Given the description of an element on the screen output the (x, y) to click on. 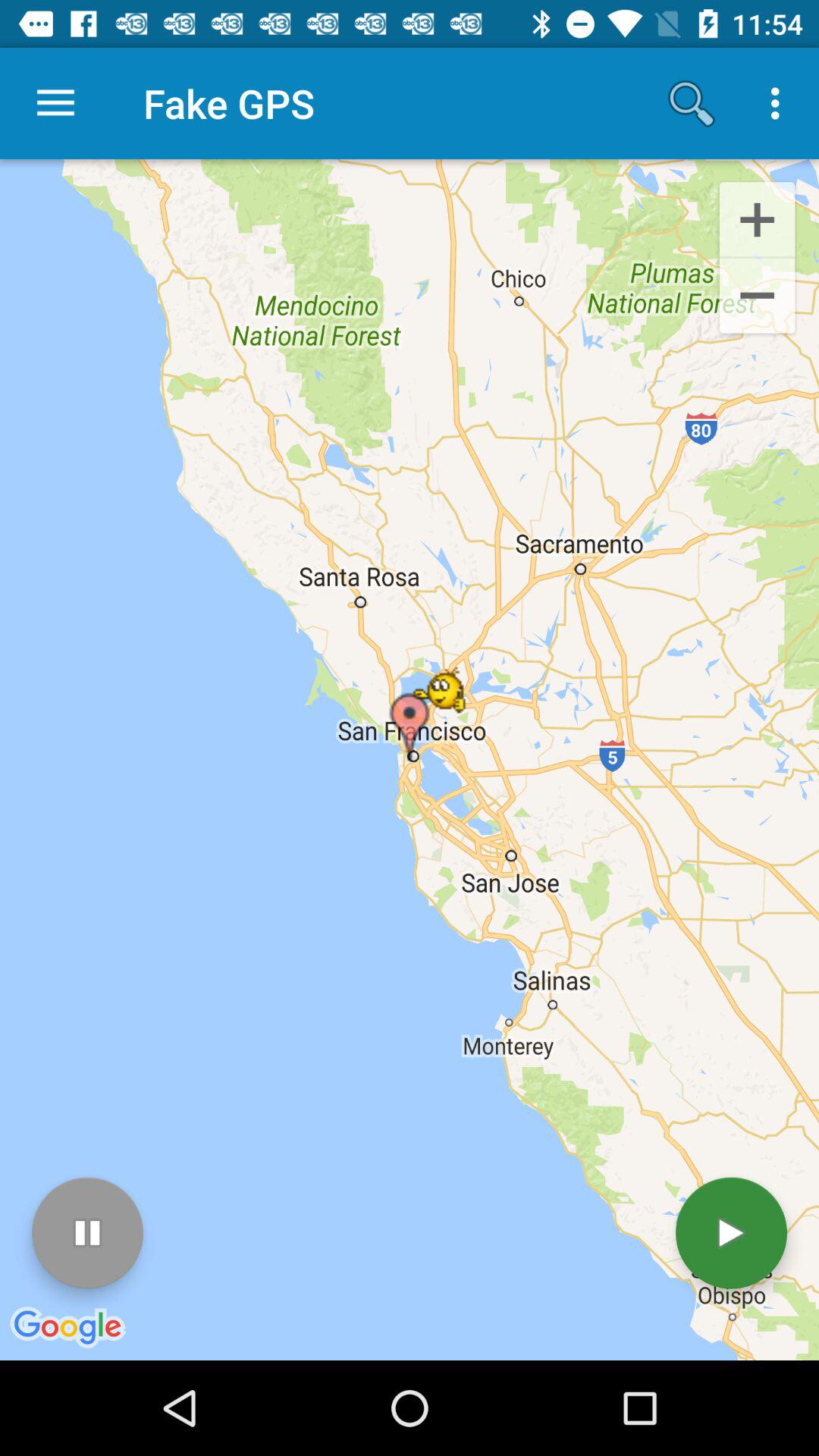
tap item at the bottom right corner (731, 1232)
